Given the description of an element on the screen output the (x, y) to click on. 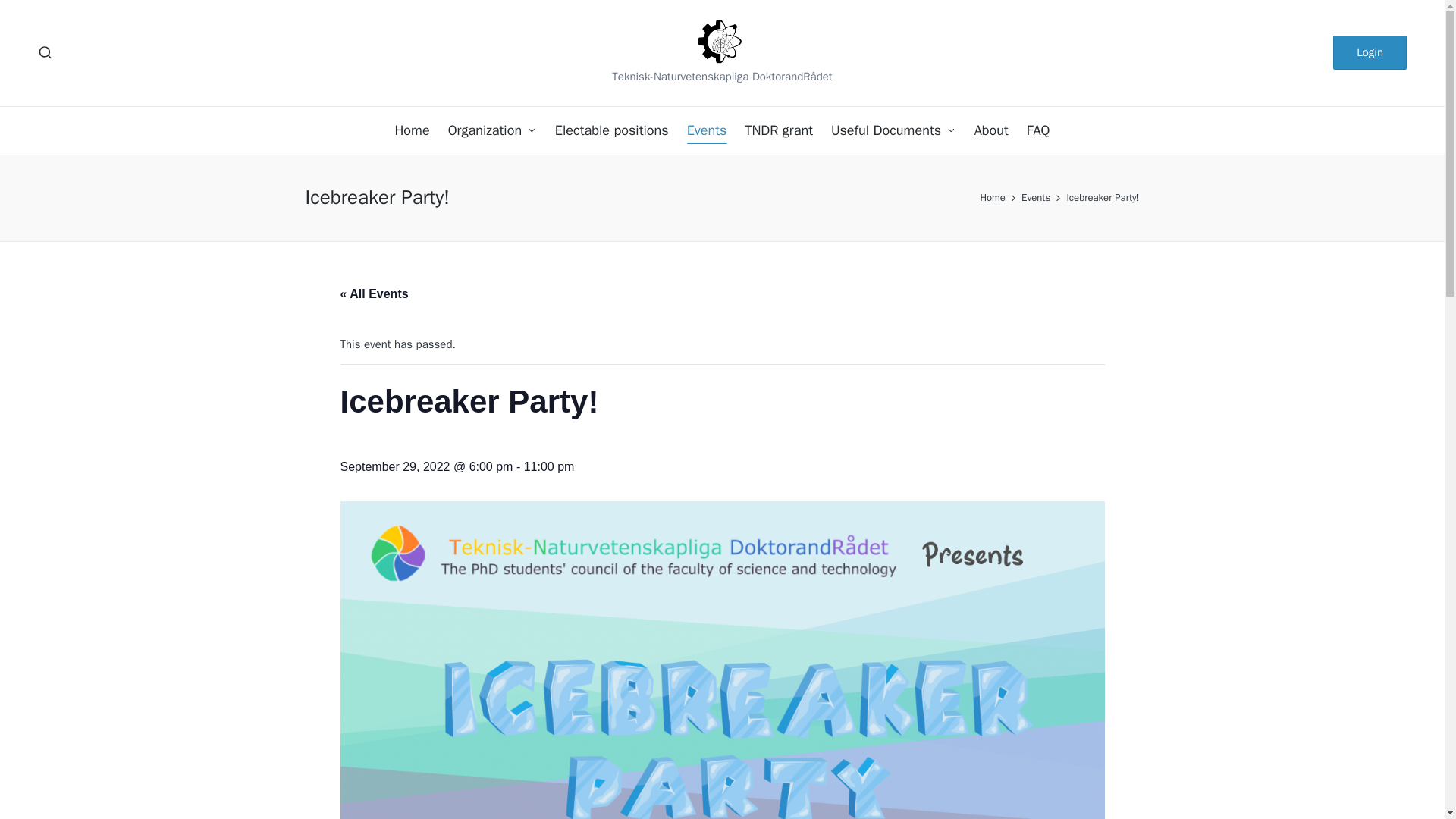
About (991, 130)
Login (1369, 52)
TNDR grant (778, 130)
Home (411, 130)
Home (992, 198)
Electable positions (611, 130)
Useful Documents (893, 130)
FAQ (1037, 130)
Organization (492, 130)
Events (1035, 198)
Events (706, 130)
